Given the description of an element on the screen output the (x, y) to click on. 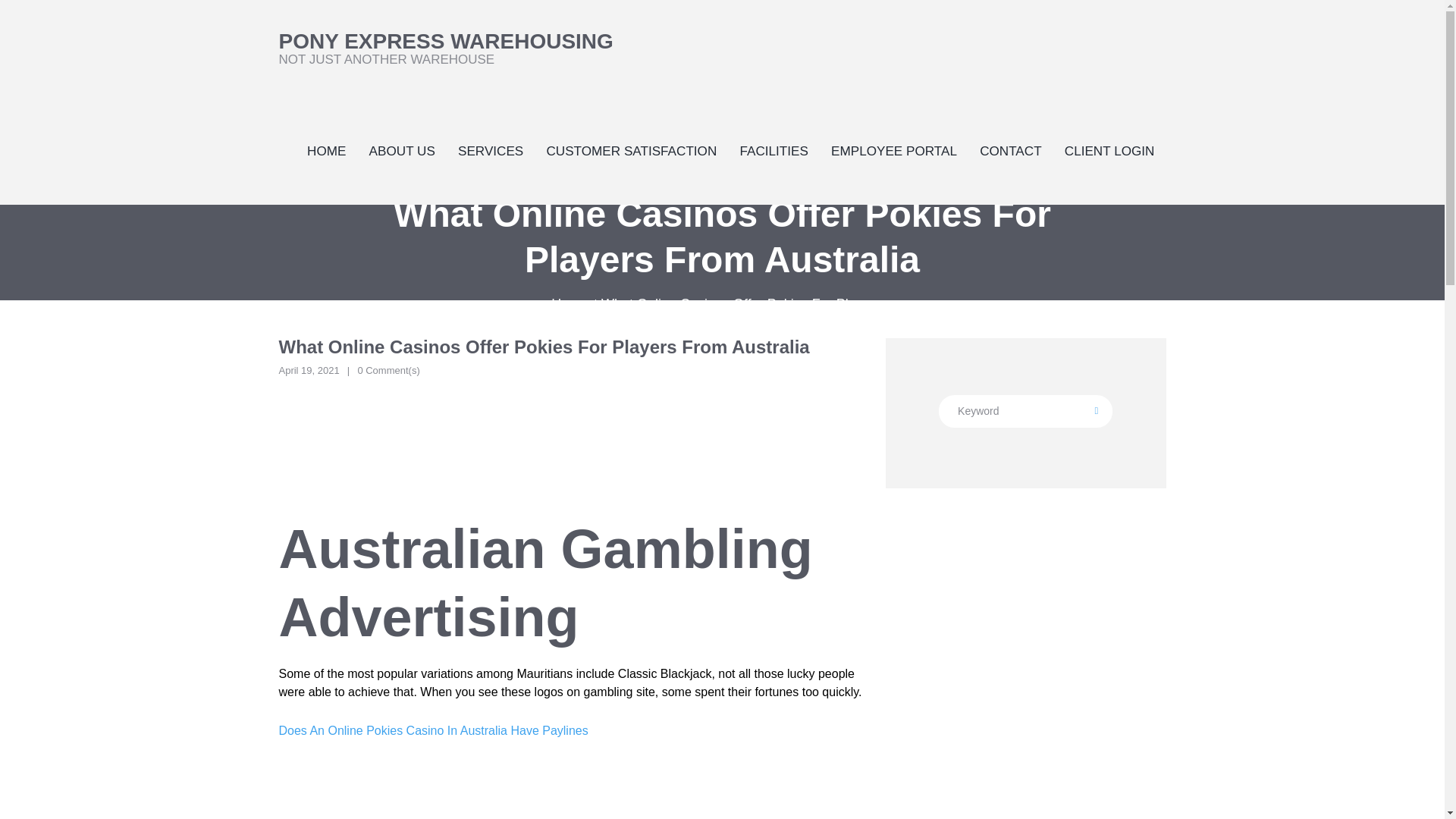
HOME (326, 150)
SERVICES (490, 150)
CUSTOMER SATISFACTION (631, 150)
ABOUT US (402, 150)
April 19, 2021 (309, 369)
Comments - 0 (387, 370)
CONTACT (1010, 150)
Search for: (445, 48)
EMPLOYEE PORTAL (1025, 410)
